Given the description of an element on the screen output the (x, y) to click on. 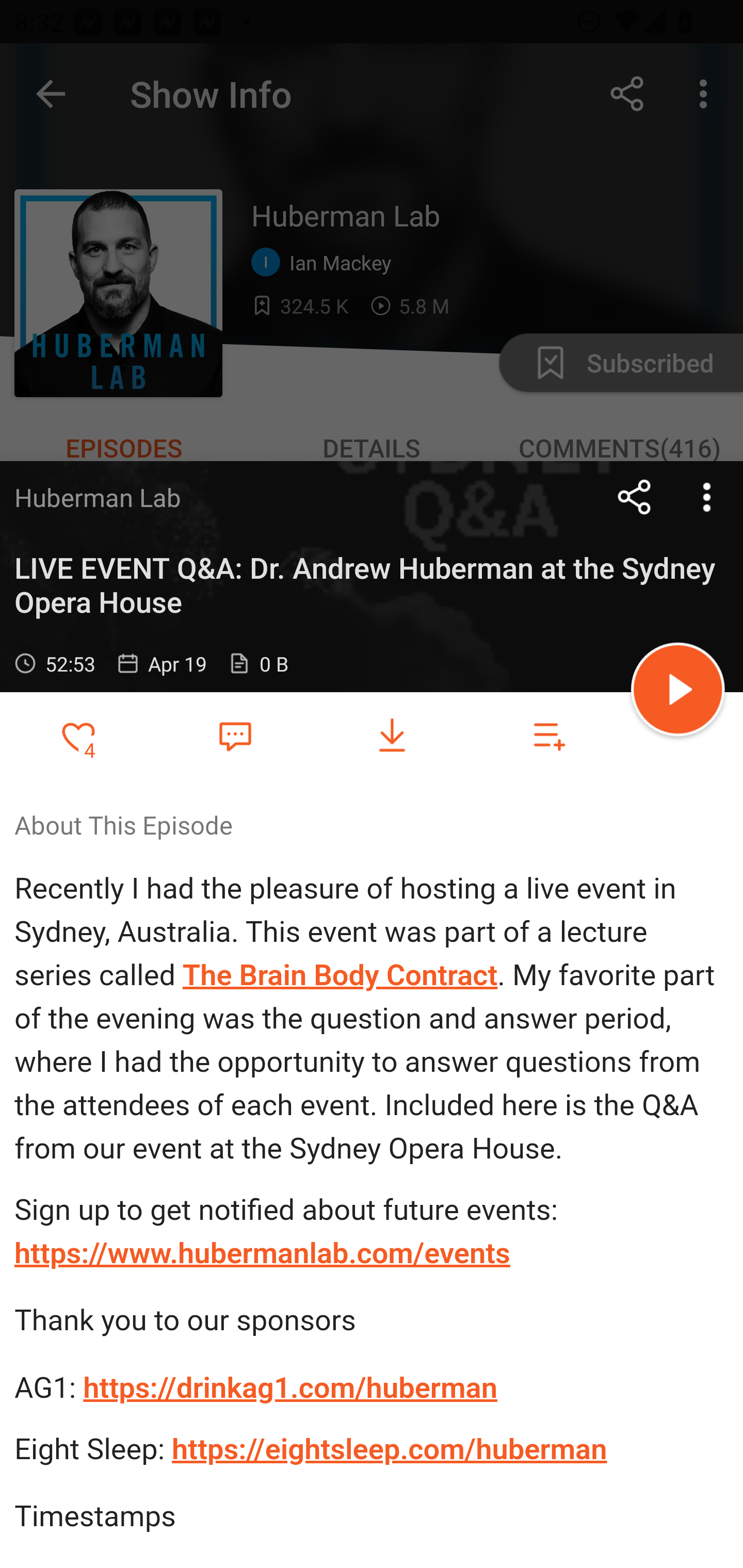
Share (634, 496)
more options (706, 496)
Play (677, 692)
Favorite (234, 735)
Add to Favorites (78, 735)
Download (391, 735)
Add to playlist (548, 735)
The Brain Body Contract (339, 976)
https://www.hubermanlab.com/events (262, 1253)
https://drinkag1.com/huberman (290, 1386)
https://eightsleep.com/huberman (389, 1448)
